Given the description of an element on the screen output the (x, y) to click on. 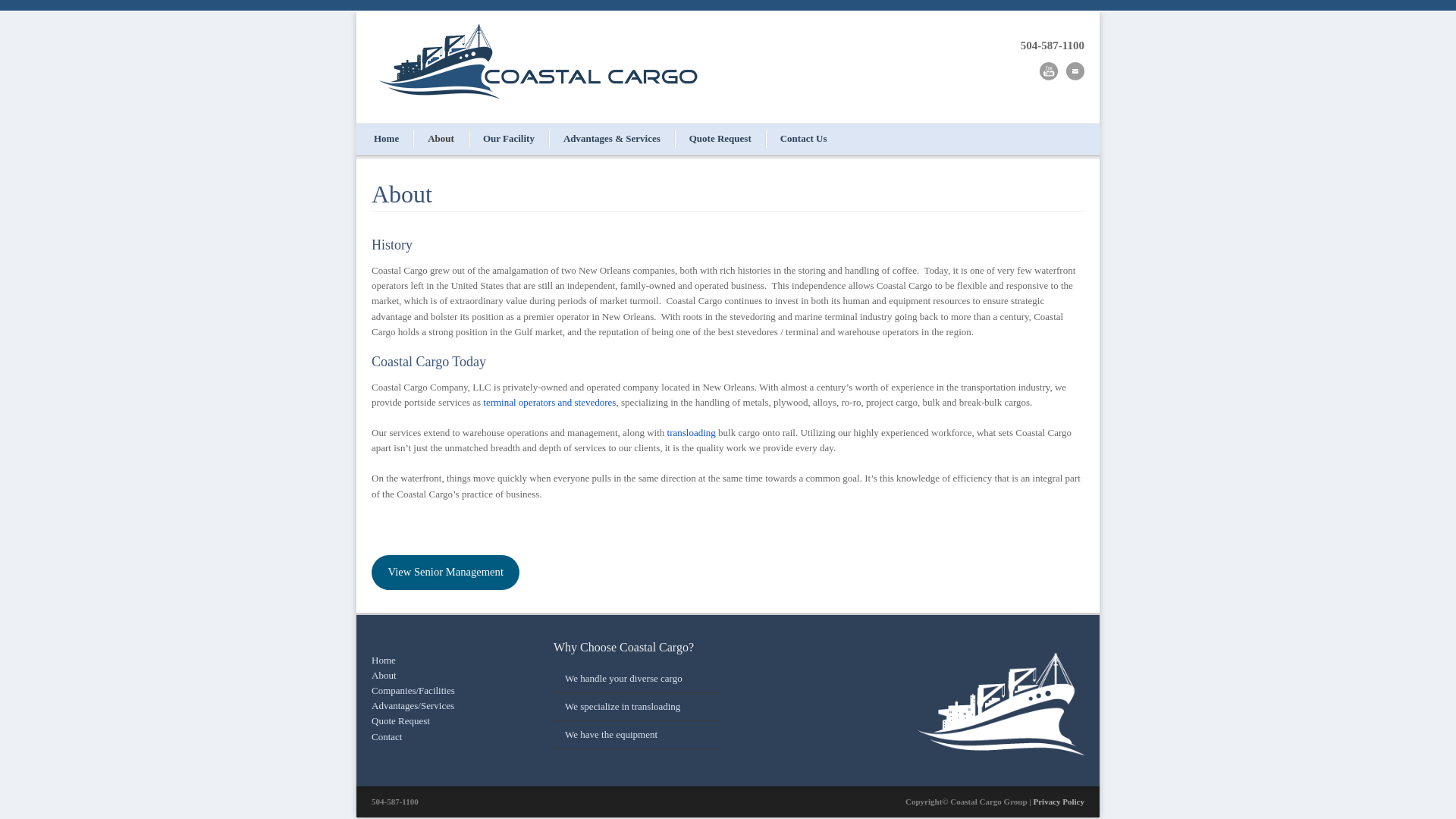
Quote Request (400, 720)
About (440, 138)
Home (386, 138)
Home (383, 659)
terminal operators and stevedores (549, 401)
We specialize in transloading (621, 706)
Quote Request (720, 138)
Our Facility (508, 138)
transloading (691, 432)
Contact Us (803, 138)
View Senior Management (445, 572)
Contact (386, 736)
Privacy Policy (1058, 800)
About (383, 674)
We have the equipment (611, 734)
